Given the description of an element on the screen output the (x, y) to click on. 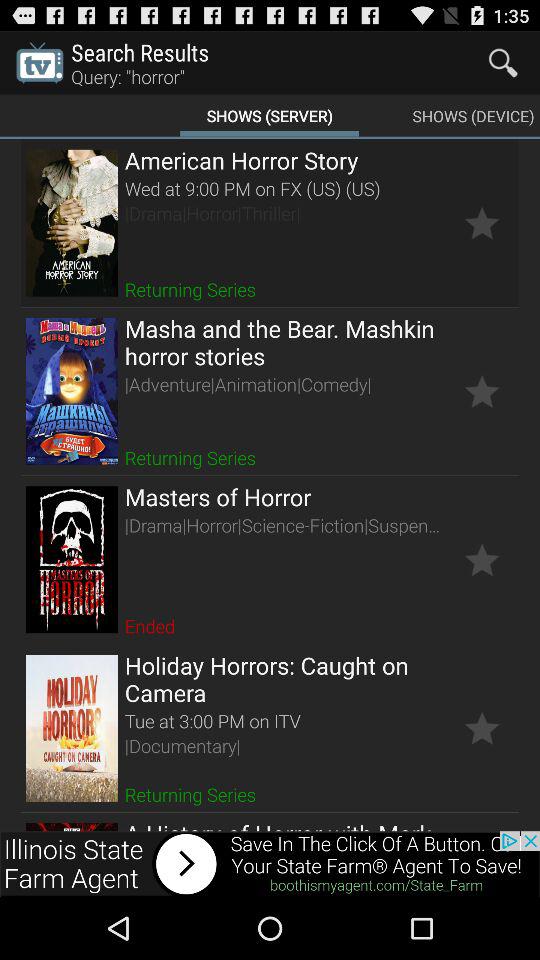
mark as favorite (481, 391)
